Given the description of an element on the screen output the (x, y) to click on. 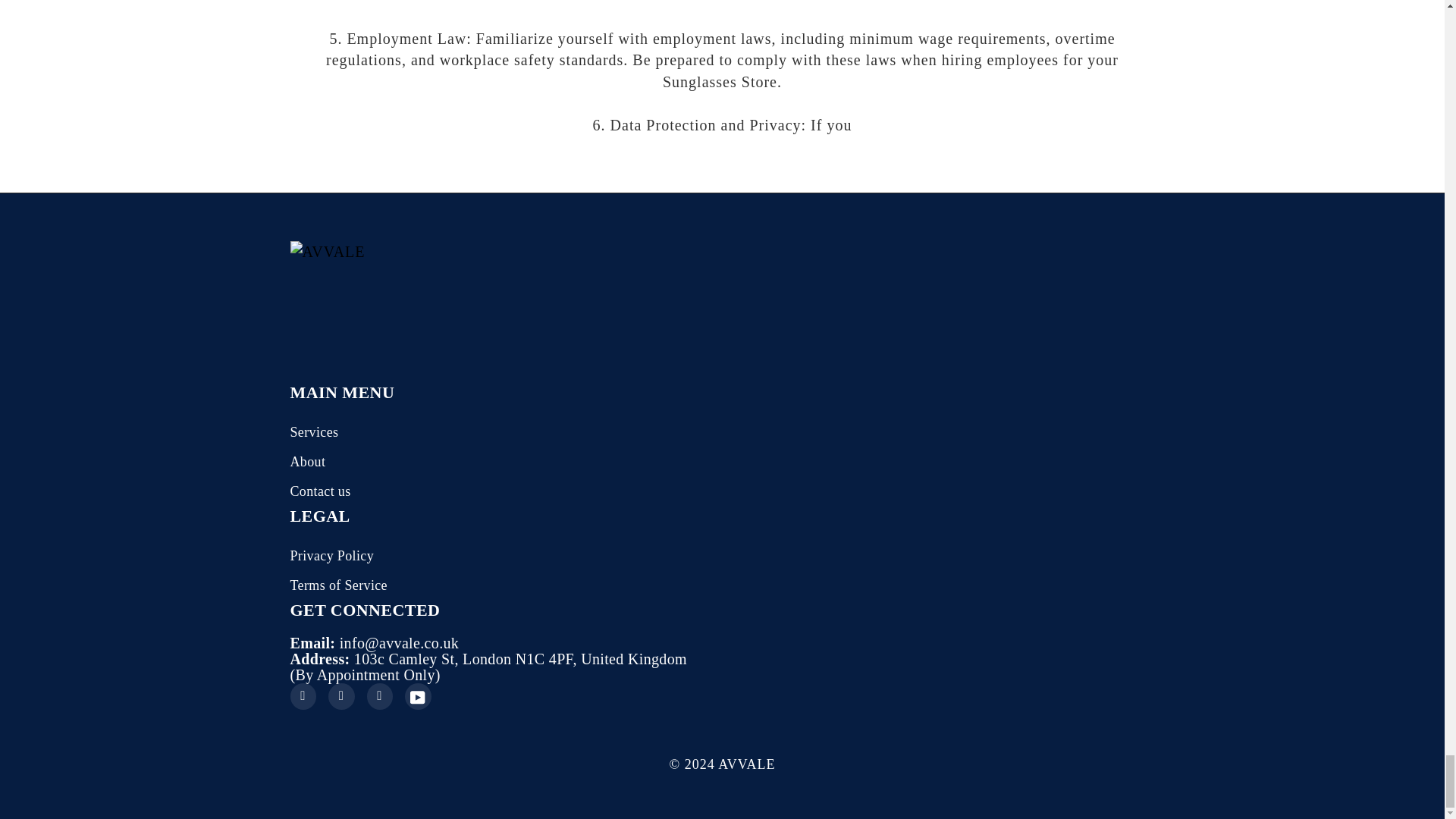
AVVALE on Instagram (342, 696)
AVVALE on YouTube (417, 696)
AVVALE on LinkedIn (379, 696)
